Given the description of an element on the screen output the (x, y) to click on. 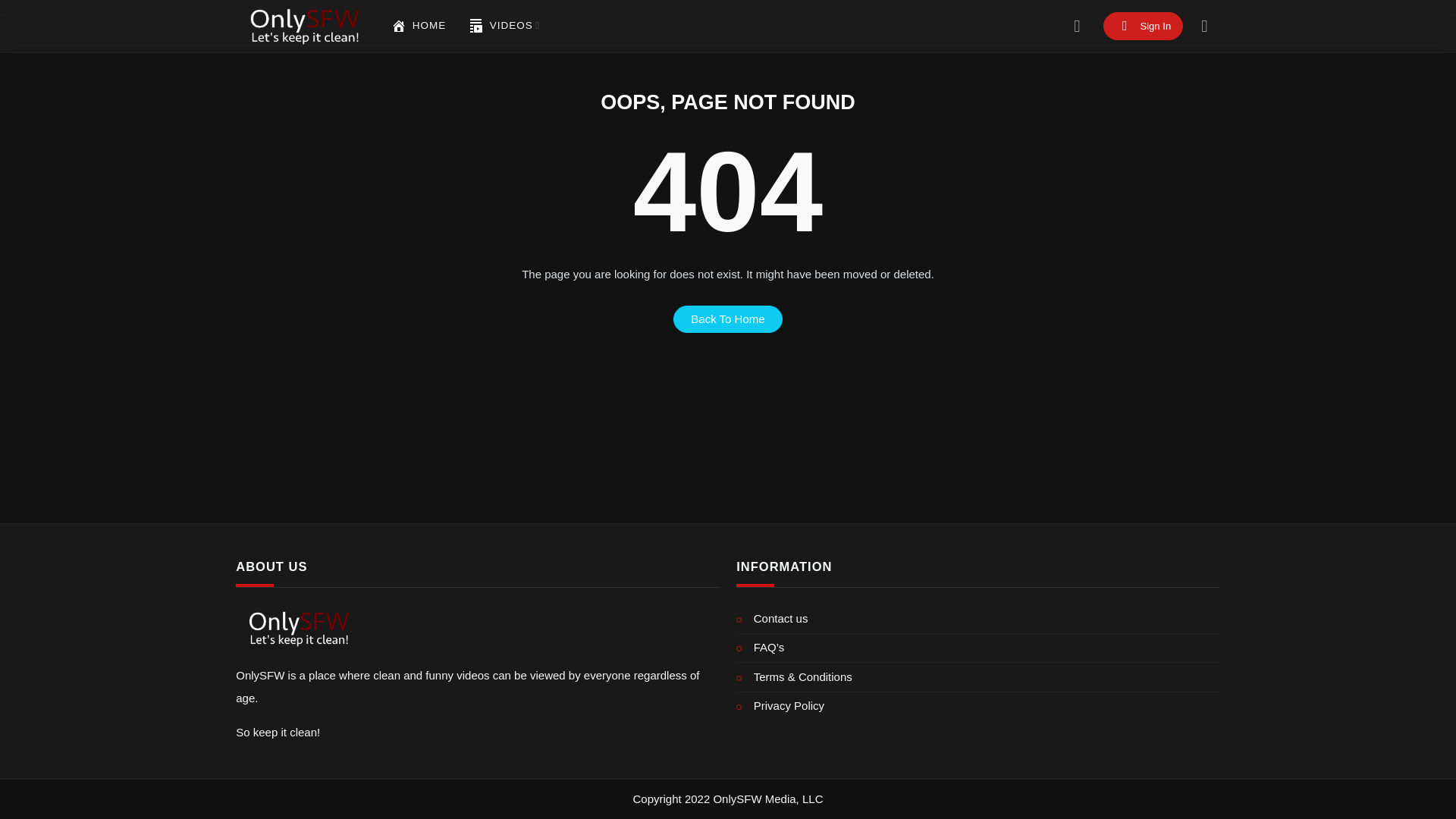
Videos (475, 25)
Contact us (978, 619)
Videos (504, 25)
Sign In (1143, 26)
Home (398, 25)
Home (418, 25)
Back To Home (727, 318)
VIDEOS (504, 25)
Privacy Policy (978, 705)
HOME (418, 25)
